Given the description of an element on the screen output the (x, y) to click on. 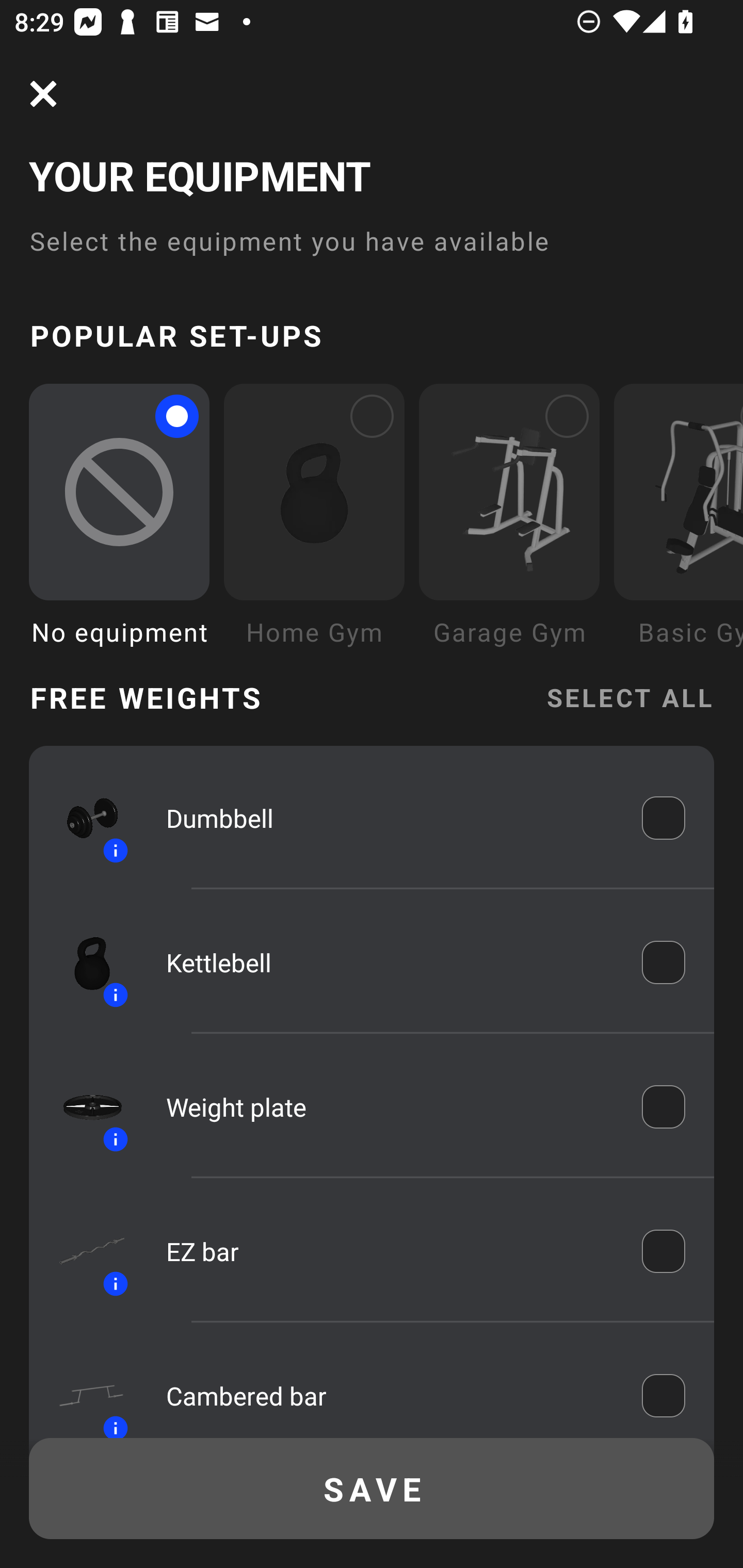
Navigation icon (43, 93)
SELECT ALL (629, 696)
Equipment icon Information icon (82, 817)
Dumbbell (389, 817)
Equipment icon Information icon (82, 961)
Kettlebell (389, 961)
Equipment icon Information icon (82, 1106)
Weight plate (389, 1106)
Equipment icon Information icon (82, 1251)
EZ bar (389, 1251)
Equipment icon Information icon (82, 1389)
Cambered bar (389, 1394)
SAVE (371, 1488)
